Given the description of an element on the screen output the (x, y) to click on. 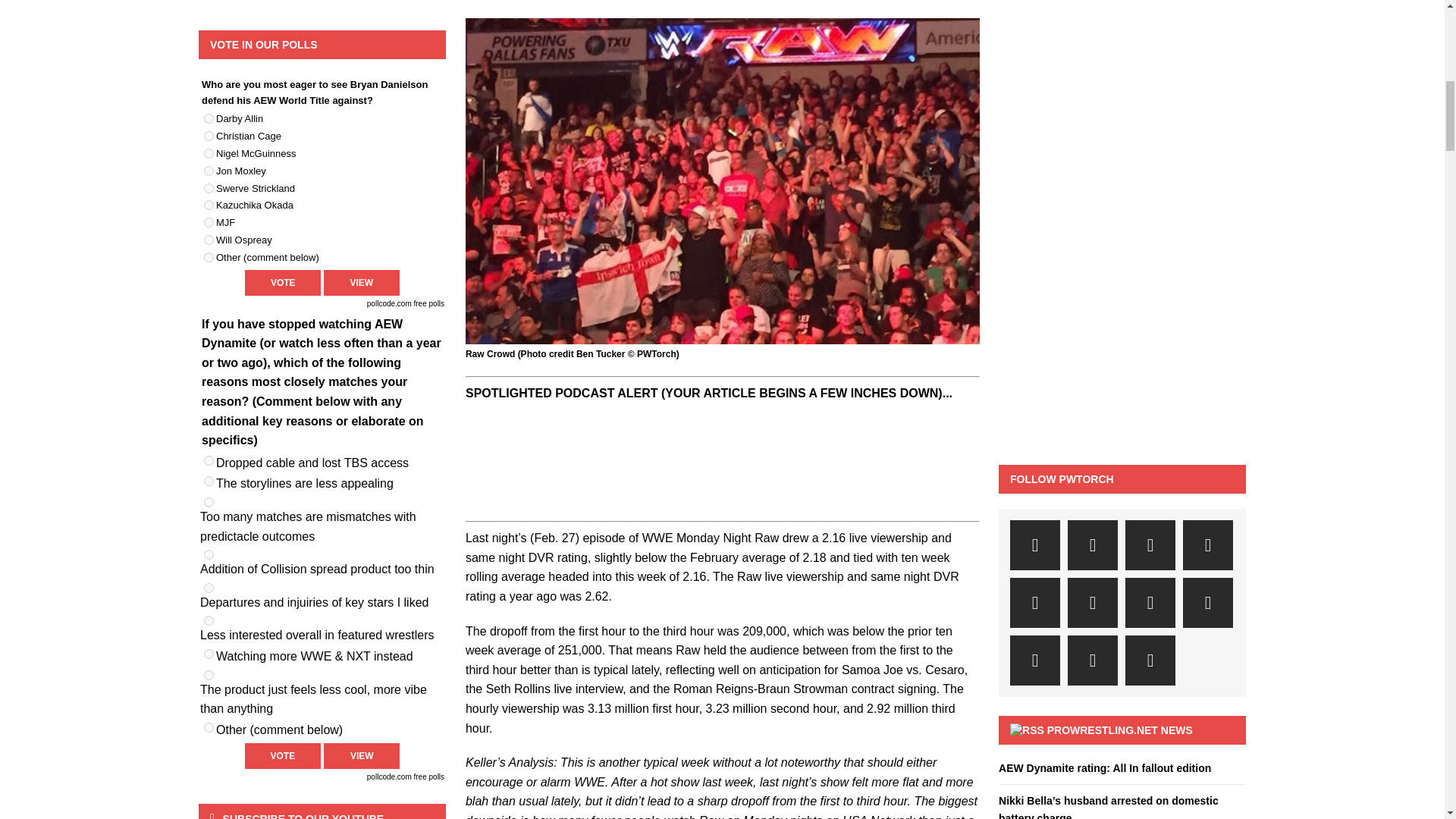
 Vote  (282, 282)
5 (208, 587)
2 (208, 480)
8 (208, 239)
1 (208, 460)
5 (208, 188)
6 (208, 620)
9 (208, 257)
1 (208, 118)
8 (208, 675)
